Given the description of an element on the screen output the (x, y) to click on. 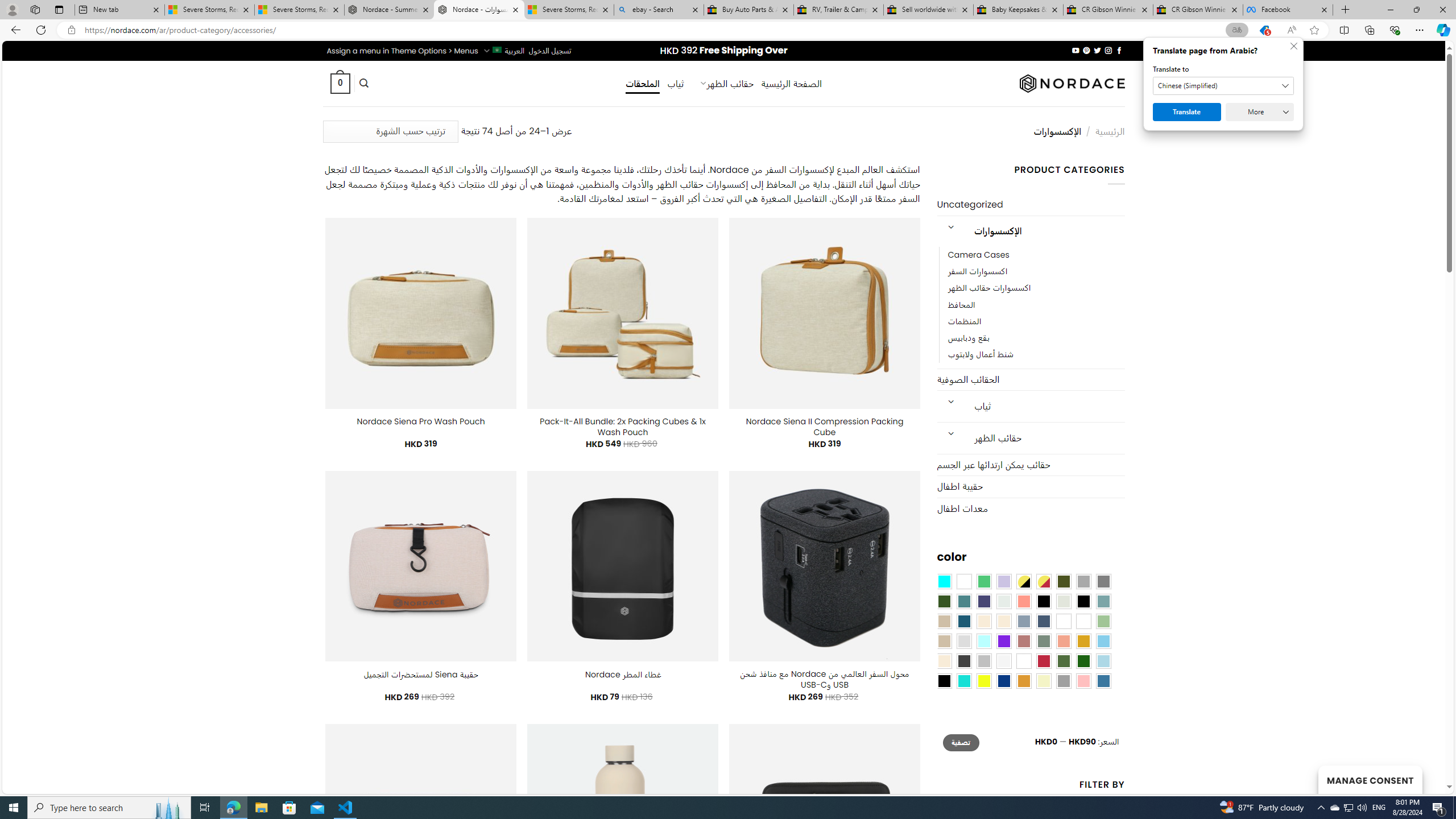
Aqua Blue (944, 581)
Follow on Instagram (1108, 50)
Show translate options (1236, 29)
